Given the description of an element on the screen output the (x, y) to click on. 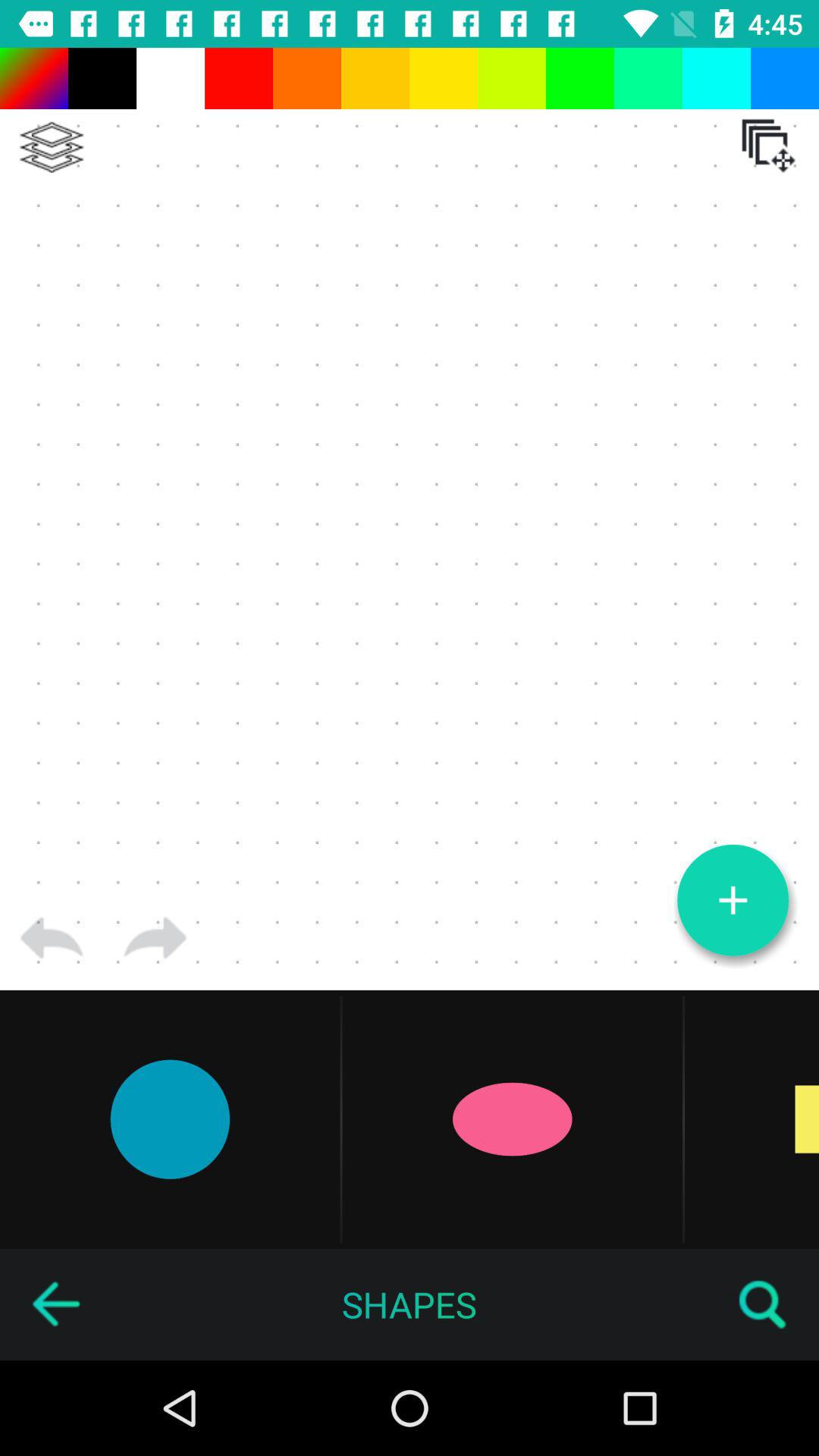
flatten (51, 147)
